Given the description of an element on the screen output the (x, y) to click on. 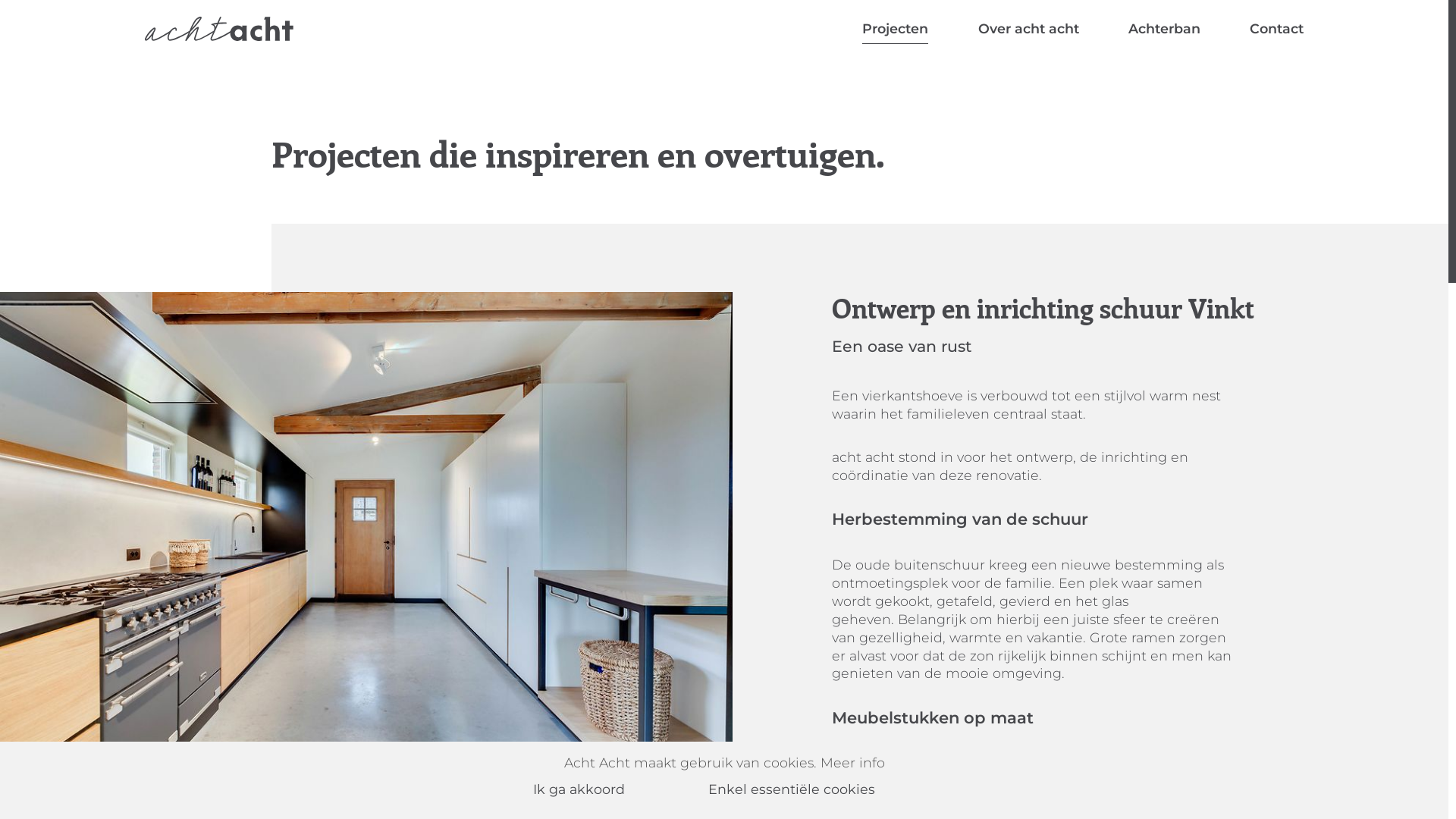
Ontwerp en inrichting schuur Vinkt Element type: hover (366, 535)
Over acht acht Element type: text (1028, 28)
Contact Element type: text (1276, 28)
Meer info Element type: text (852, 762)
Ik ga akkoord Element type: text (599, 788)
Achterban Element type: text (1164, 28)
Projecten Element type: text (895, 28)
